Given the description of an element on the screen output the (x, y) to click on. 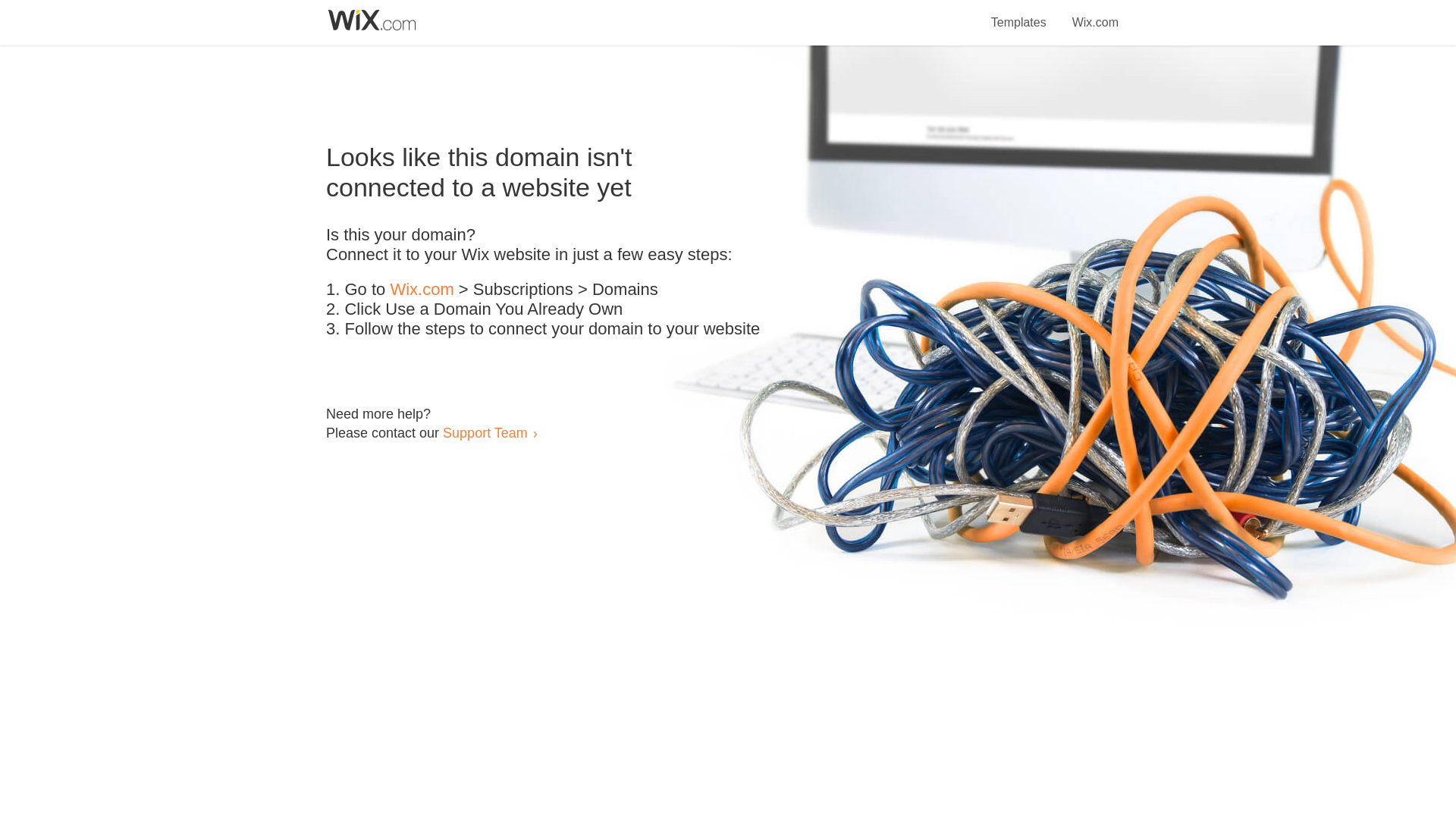
Wix.com (1095, 14)
Templates (1018, 14)
Support Team (484, 432)
Wix.com (421, 289)
